Given the description of an element on the screen output the (x, y) to click on. 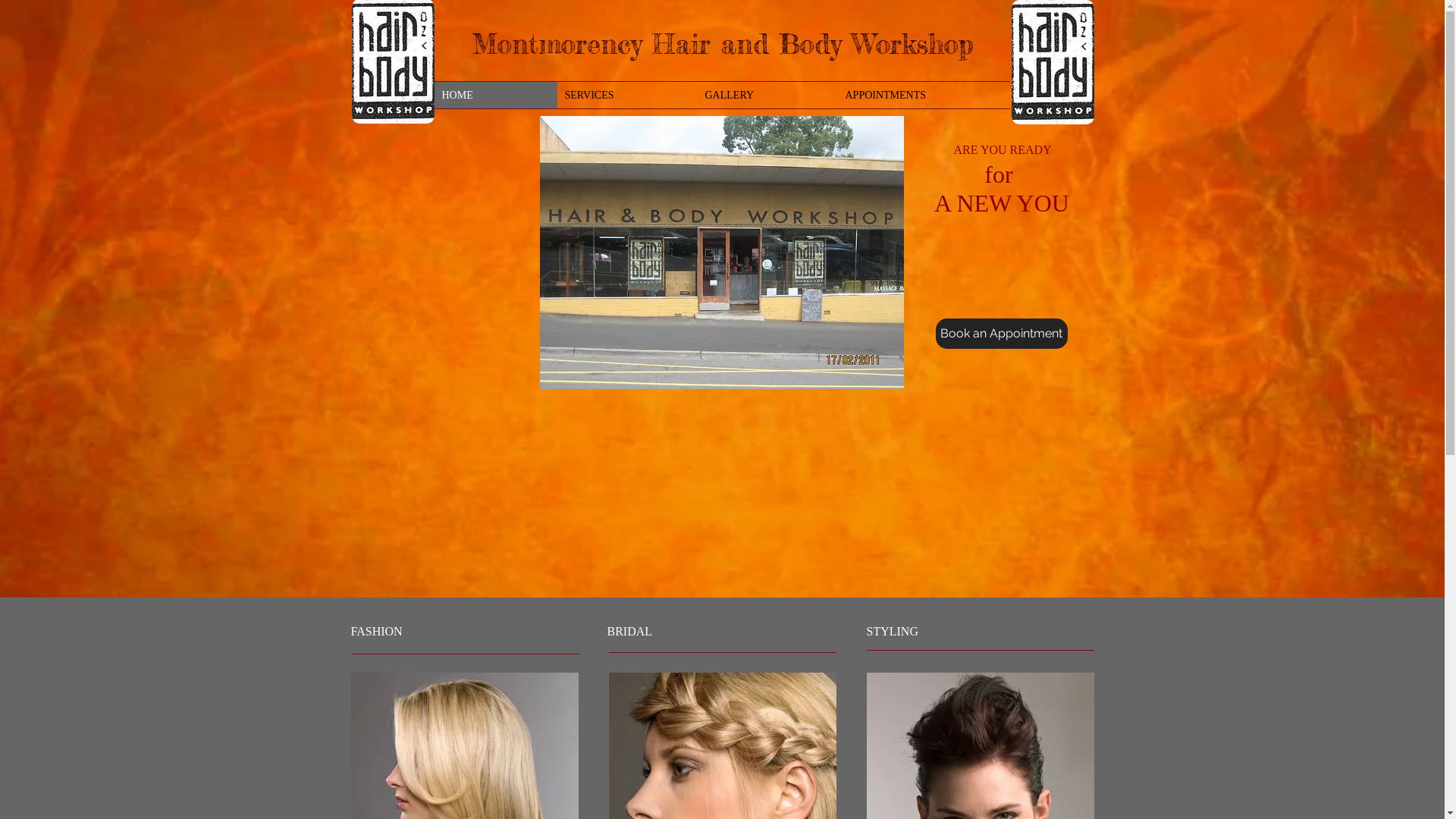
Book an Appointment Element type: text (1001, 333)
HOME Element type: text (494, 94)
APPOINTMENTS Element type: text (923, 94)
GALLERY Element type: text (767, 94)
